Given the description of an element on the screen output the (x, y) to click on. 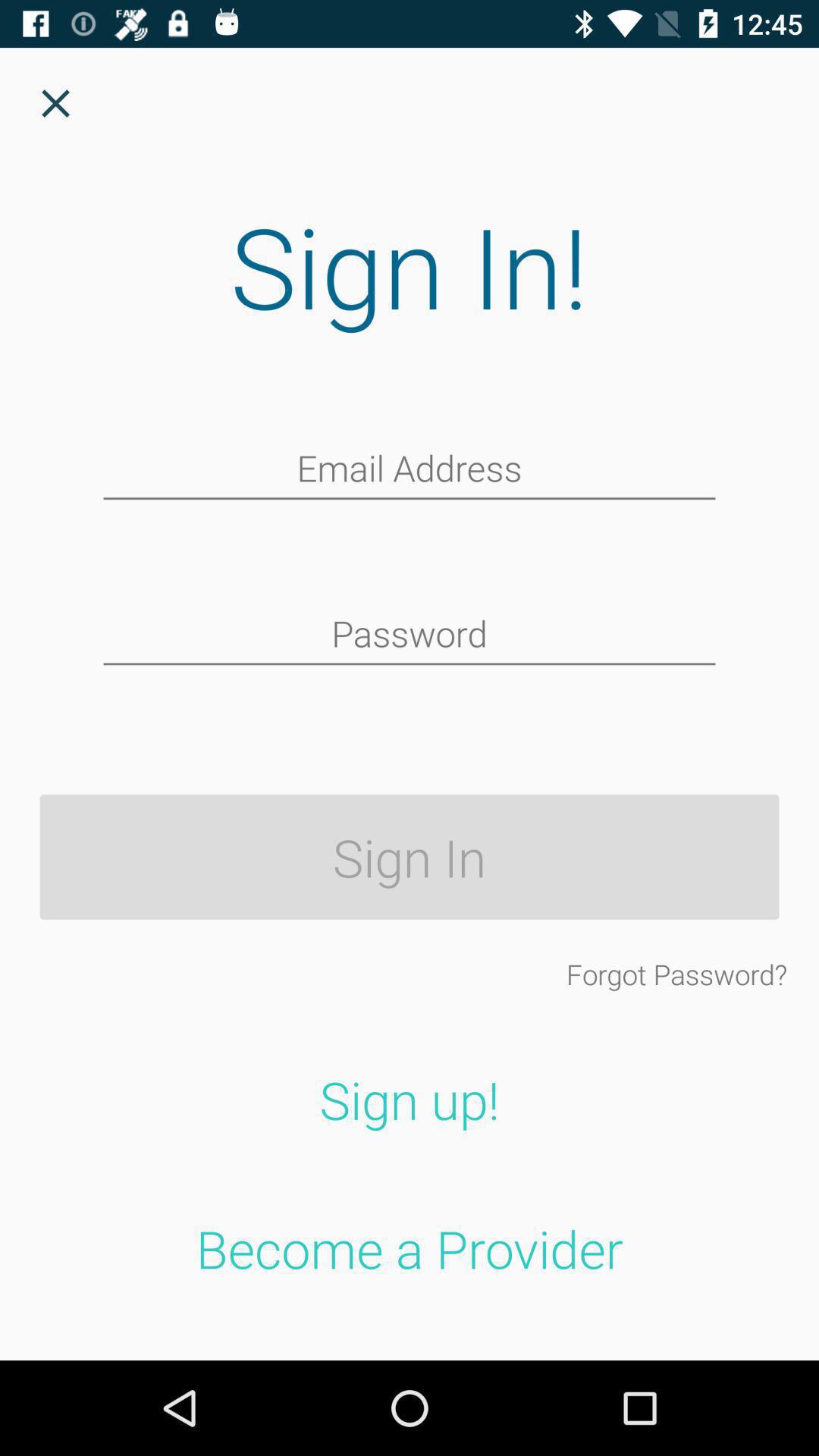
open the icon at the top left corner (55, 103)
